Given the description of an element on the screen output the (x, y) to click on. 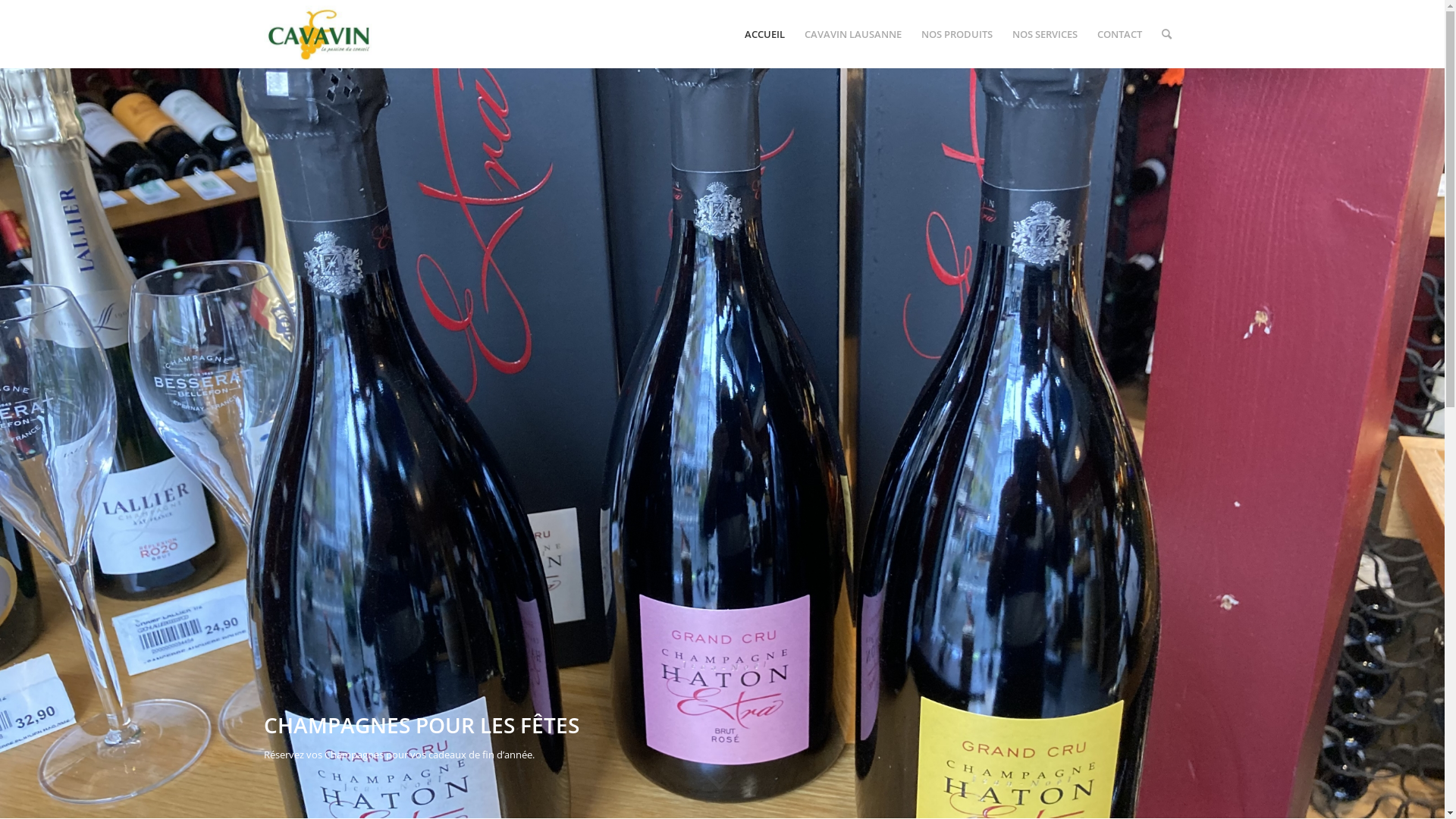
NOS PRODUITS Element type: text (956, 34)
CONTACT Element type: text (1119, 34)
NOS SERVICES Element type: text (1044, 34)
ACCUEIL Element type: text (763, 34)
CAVAVIN LAUSANNE Element type: text (852, 34)
